Given the description of an element on the screen output the (x, y) to click on. 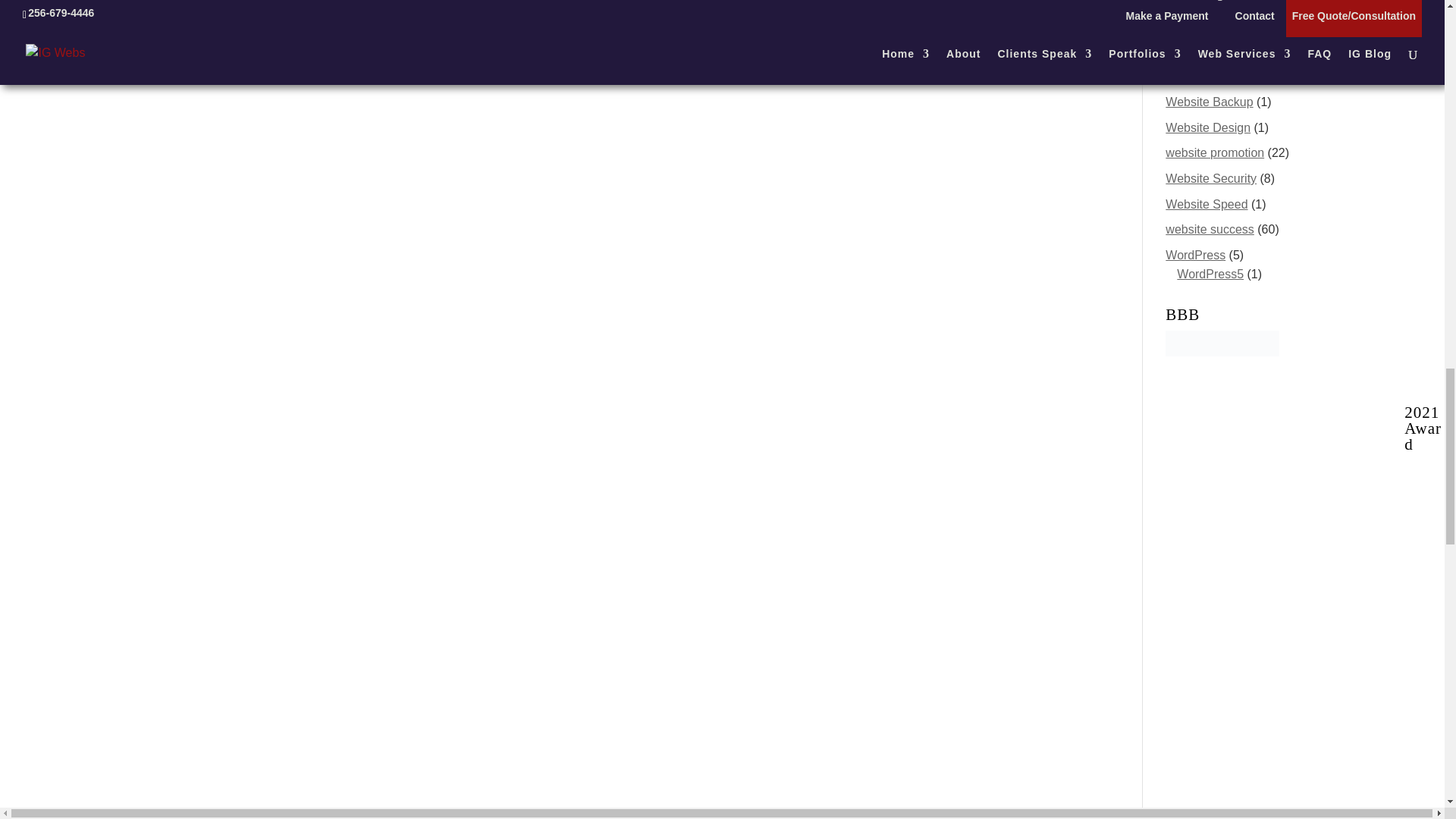
IG Webs, Web Design, Brownsboro, AL (1222, 356)
